Given the description of an element on the screen output the (x, y) to click on. 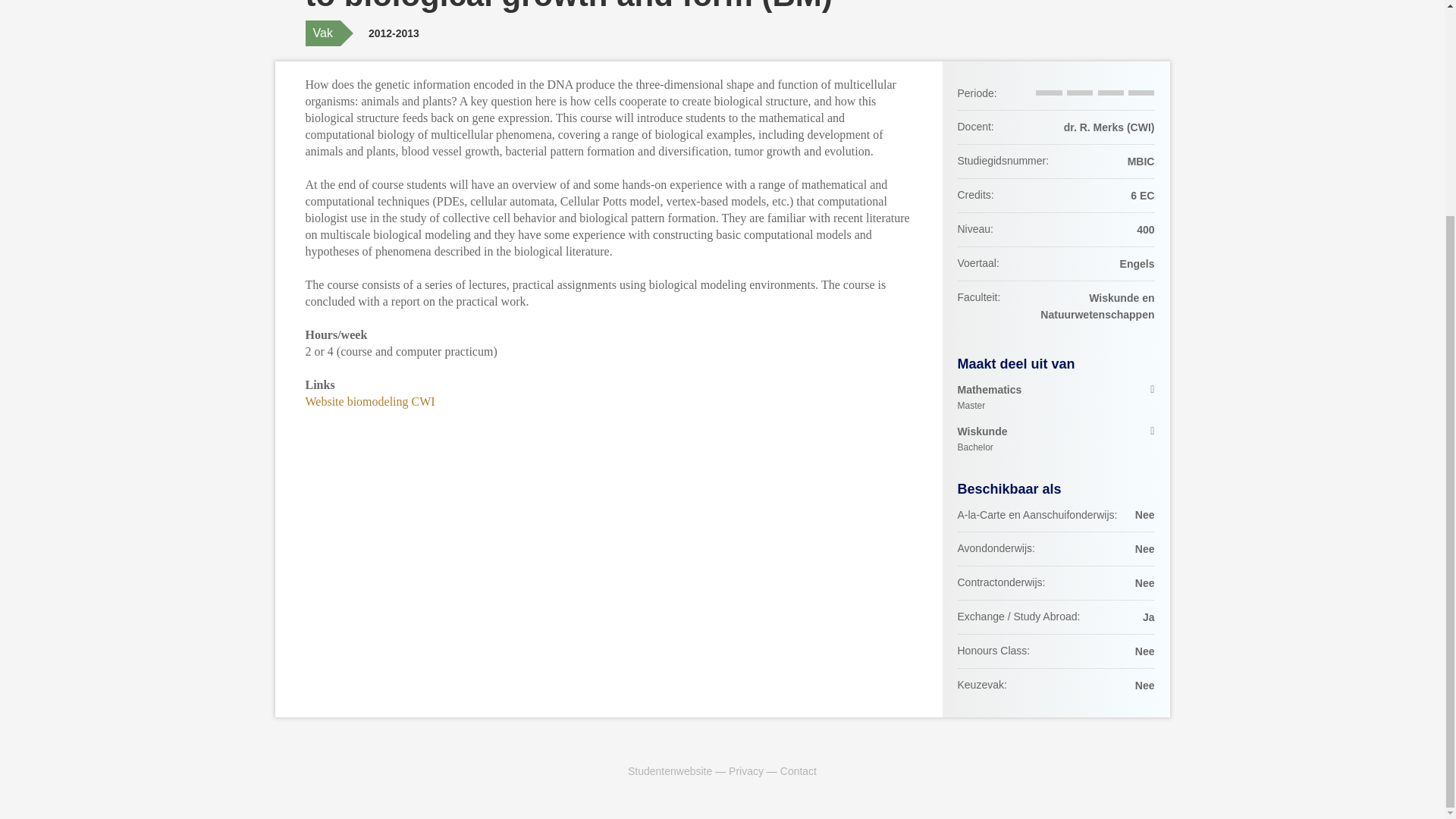
Privacy (1055, 439)
Website biomodeling CWI (745, 770)
Studentenwebsite (368, 400)
Contact (669, 770)
